Given the description of an element on the screen output the (x, y) to click on. 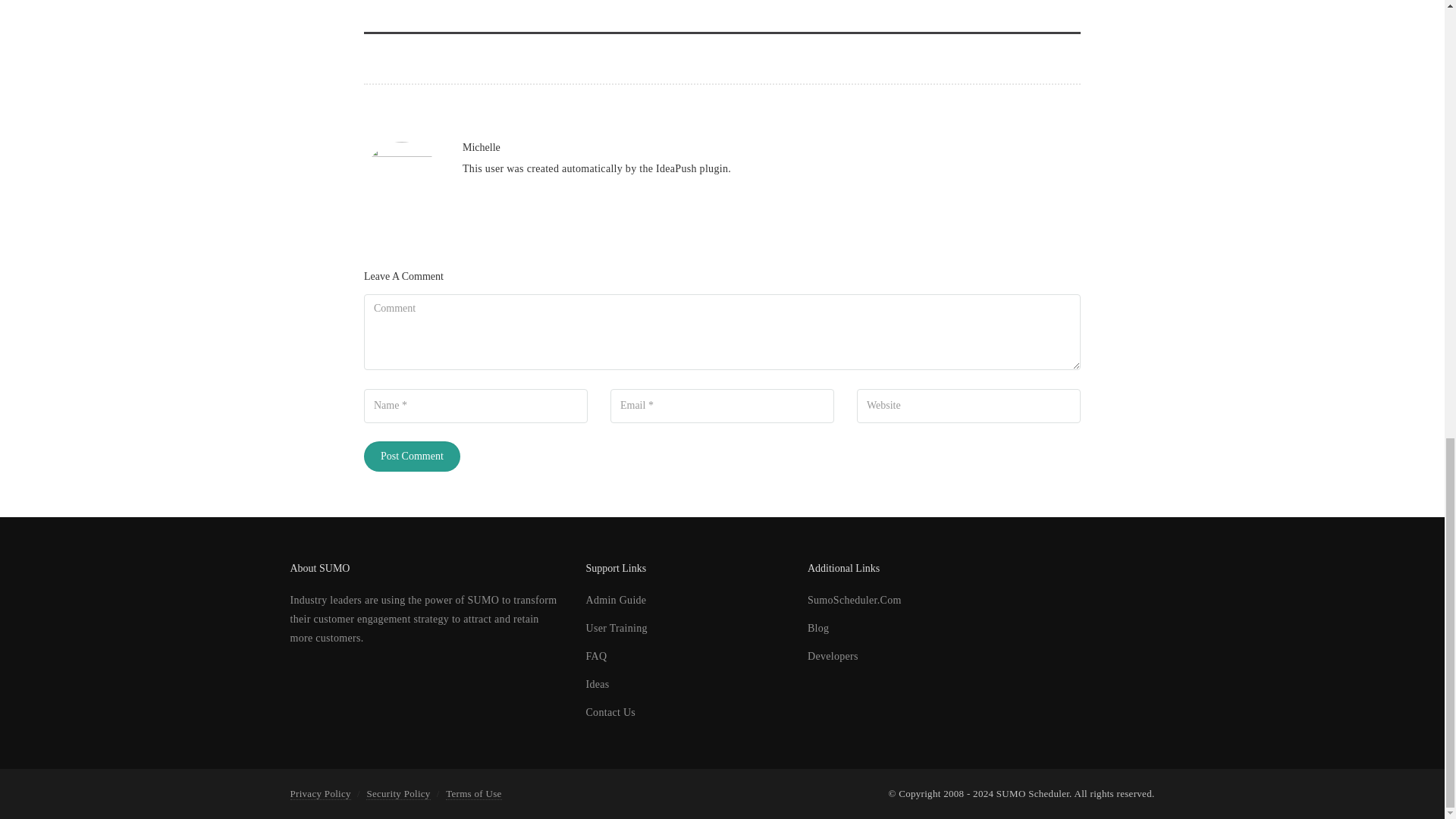
Contact Us (609, 712)
SumoScheduler.Com (854, 600)
User Training (615, 627)
FAQ (596, 655)
Post Comment (412, 456)
Admin Guide (615, 600)
Post Comment (412, 456)
Michelle (481, 147)
Ideas (596, 684)
Blog (818, 627)
